Given the description of an element on the screen output the (x, y) to click on. 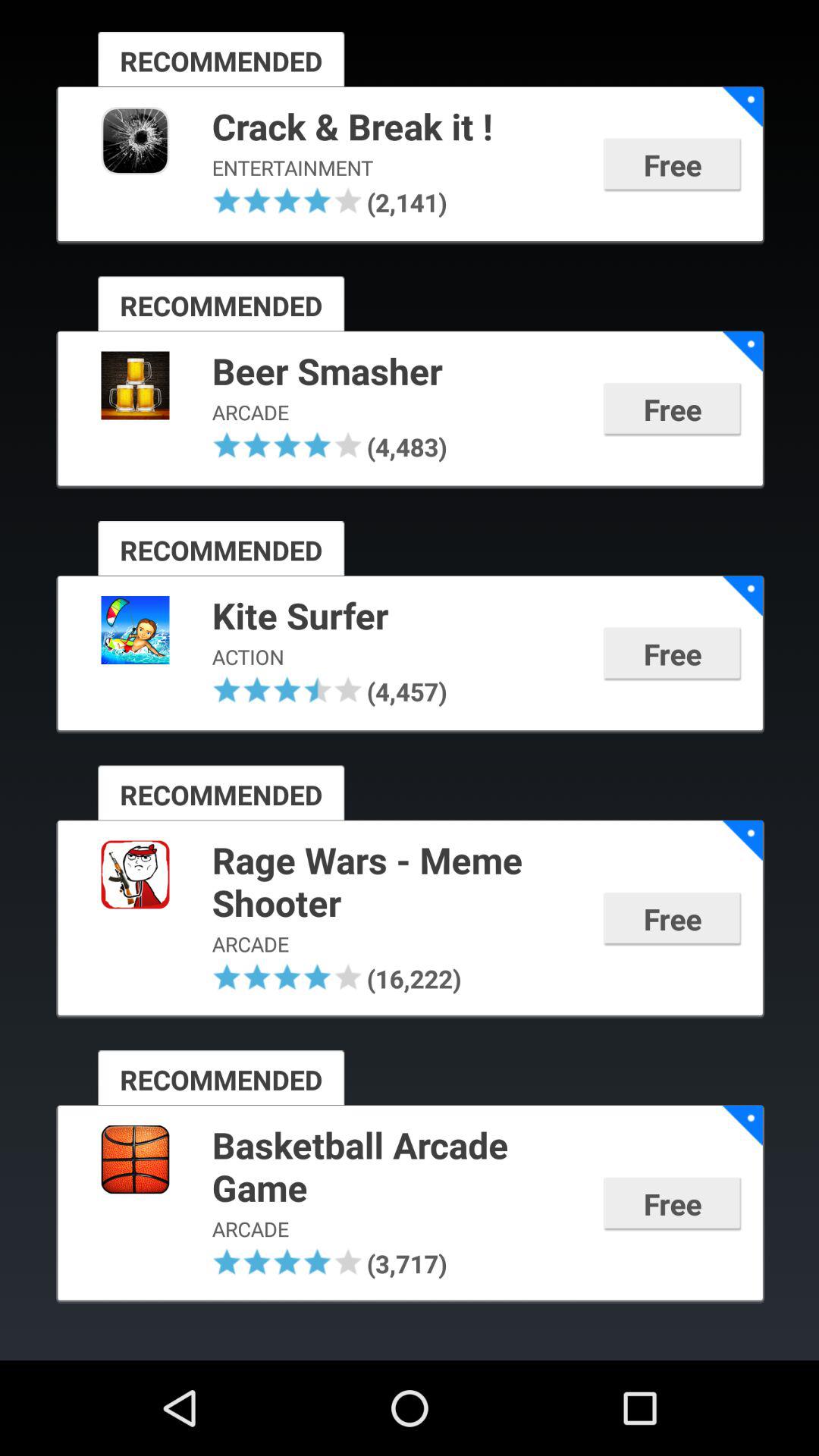
tap app next to basketball arcade game icon (742, 1125)
